Given the description of an element on the screen output the (x, y) to click on. 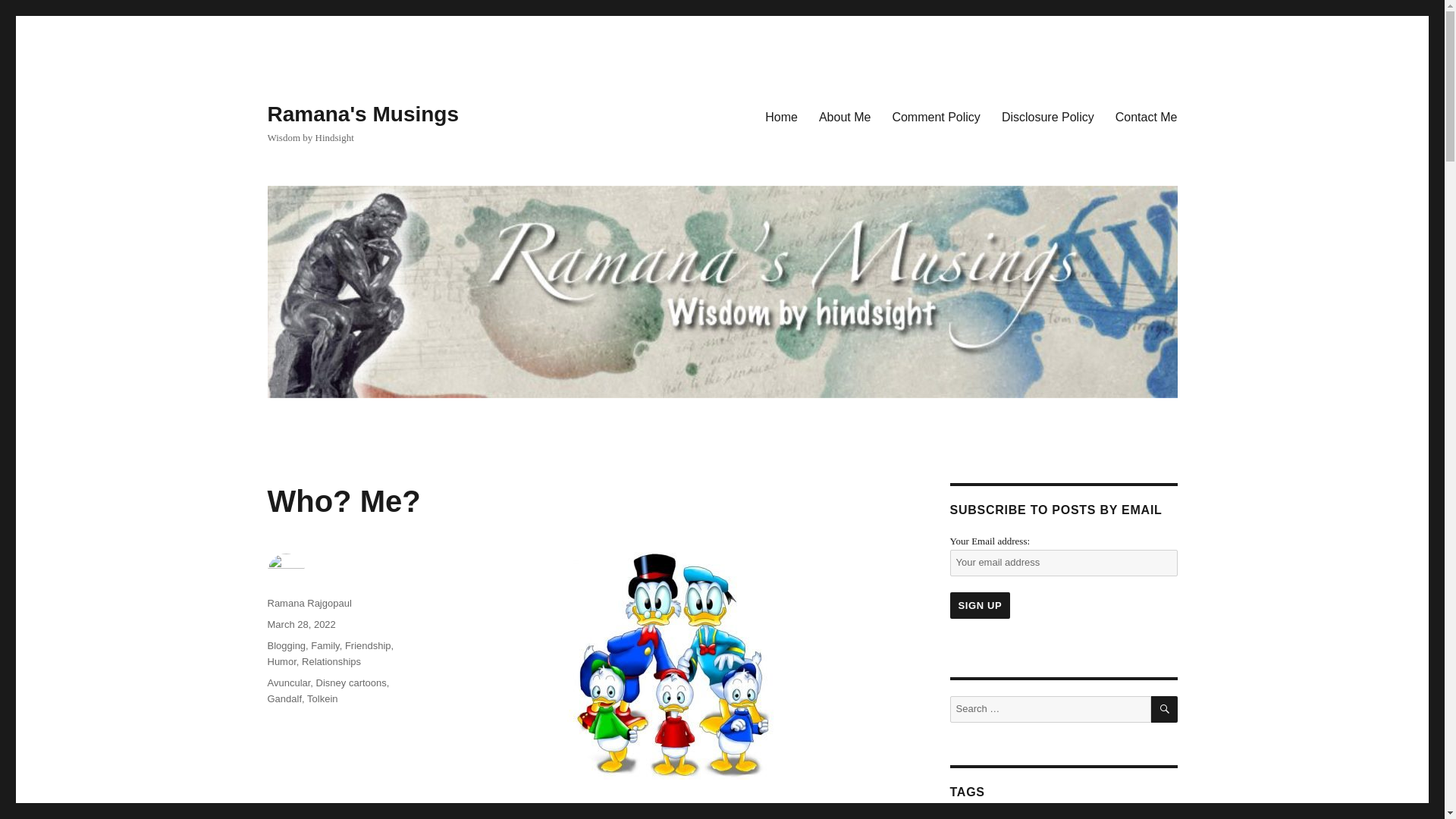
Australia (1132, 817)
Ahmedabad (1019, 817)
Comment Policy (935, 116)
Contact Me (1146, 116)
Blogging (285, 645)
Humor (280, 661)
Sign up (979, 605)
March 28, 2022 (300, 624)
Ajit Ninan (1080, 817)
Family (325, 645)
Disney cartoons (351, 682)
Disclosure Policy (1048, 116)
Ramana's Musings (362, 114)
Tolkein (322, 698)
Friendship (368, 645)
